Given the description of an element on the screen output the (x, y) to click on. 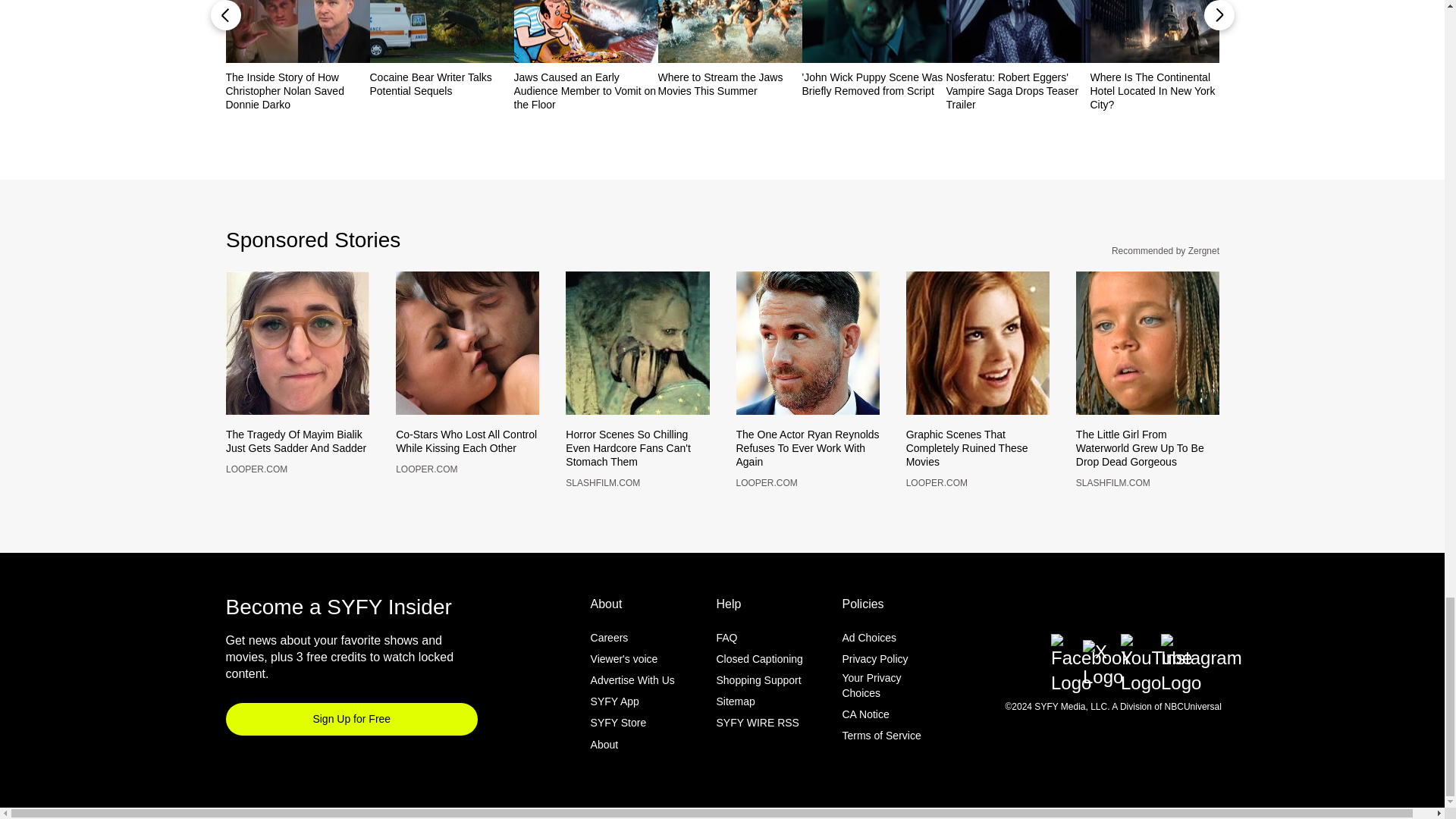
Advertise With Us (633, 705)
The Inside Story of How Christopher Nolan Saved Donnie Darko (297, 90)
